Given the description of an element on the screen output the (x, y) to click on. 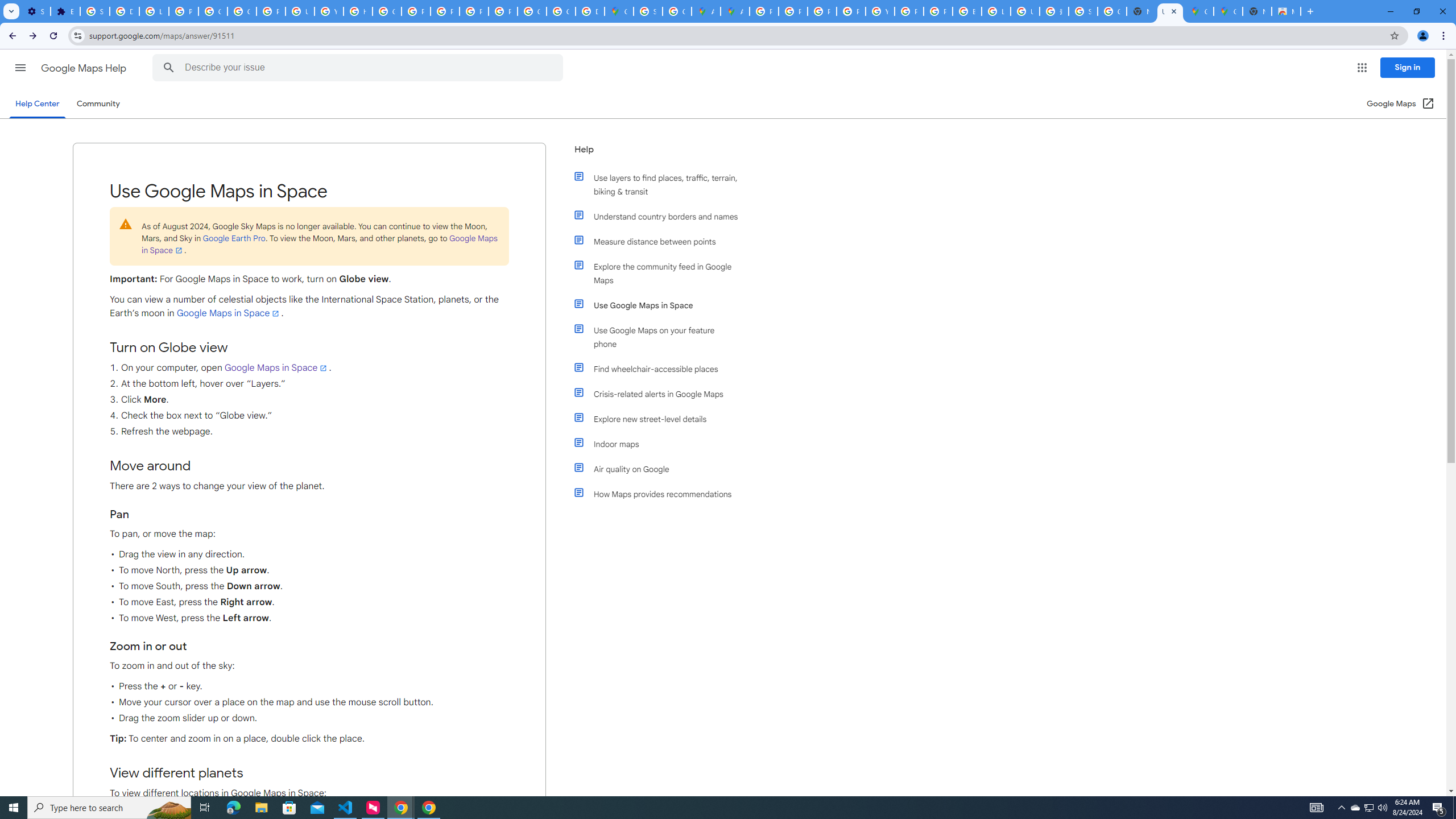
Privacy Help Center - Policies Help (821, 11)
New Tab (1256, 11)
YouTube (879, 11)
Settings - On startup (35, 11)
Delete photos & videos - Computer - Google Photos Help (124, 11)
Google Maps (Open in a new window) (1400, 103)
Air quality on Google (661, 469)
Use Google Maps in Space - Google Maps Help (1169, 11)
Use Google Maps on your feature phone (661, 336)
